Given the description of an element on the screen output the (x, y) to click on. 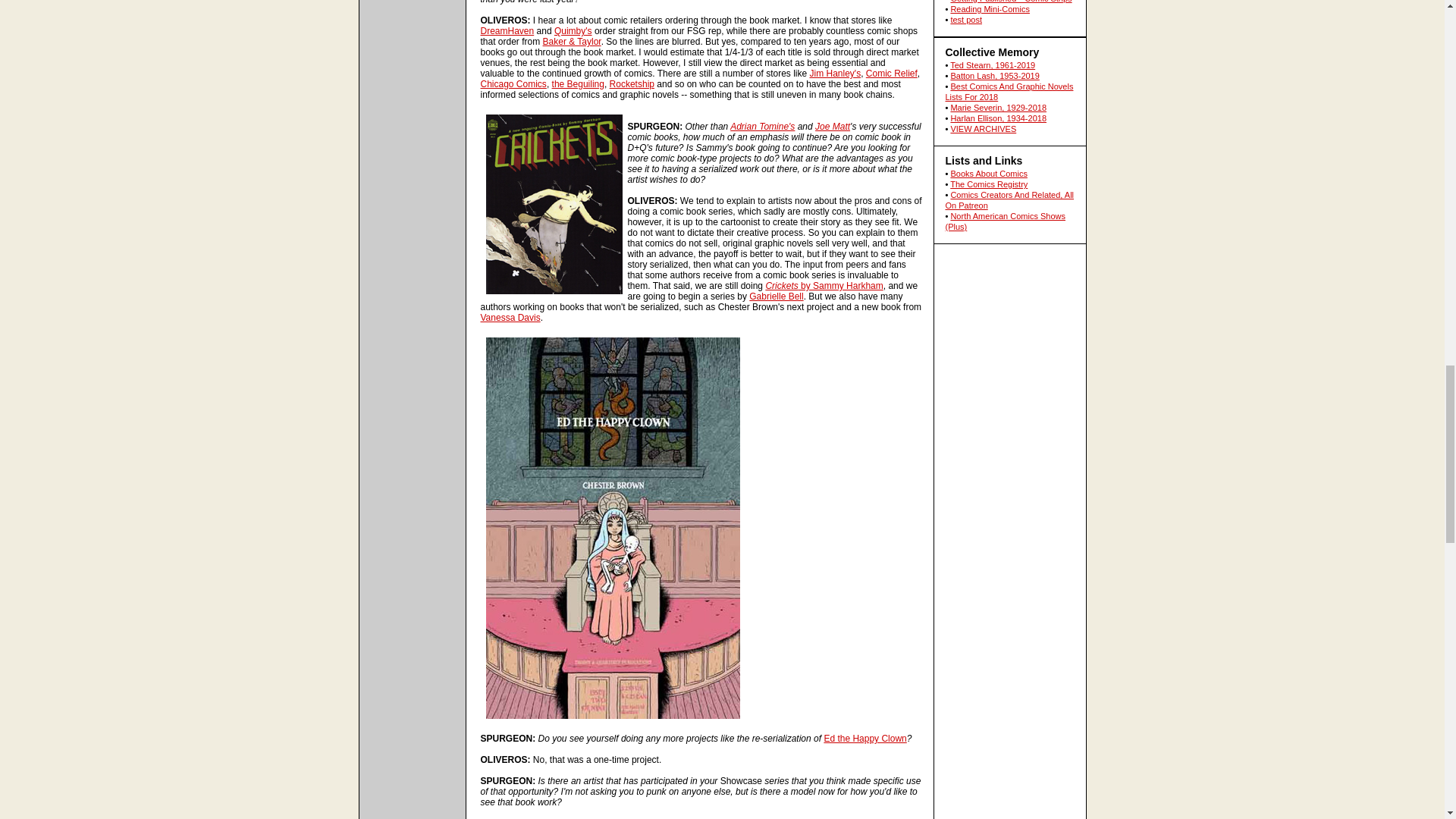
DreamHaven (507, 30)
